Given the description of an element on the screen output the (x, y) to click on. 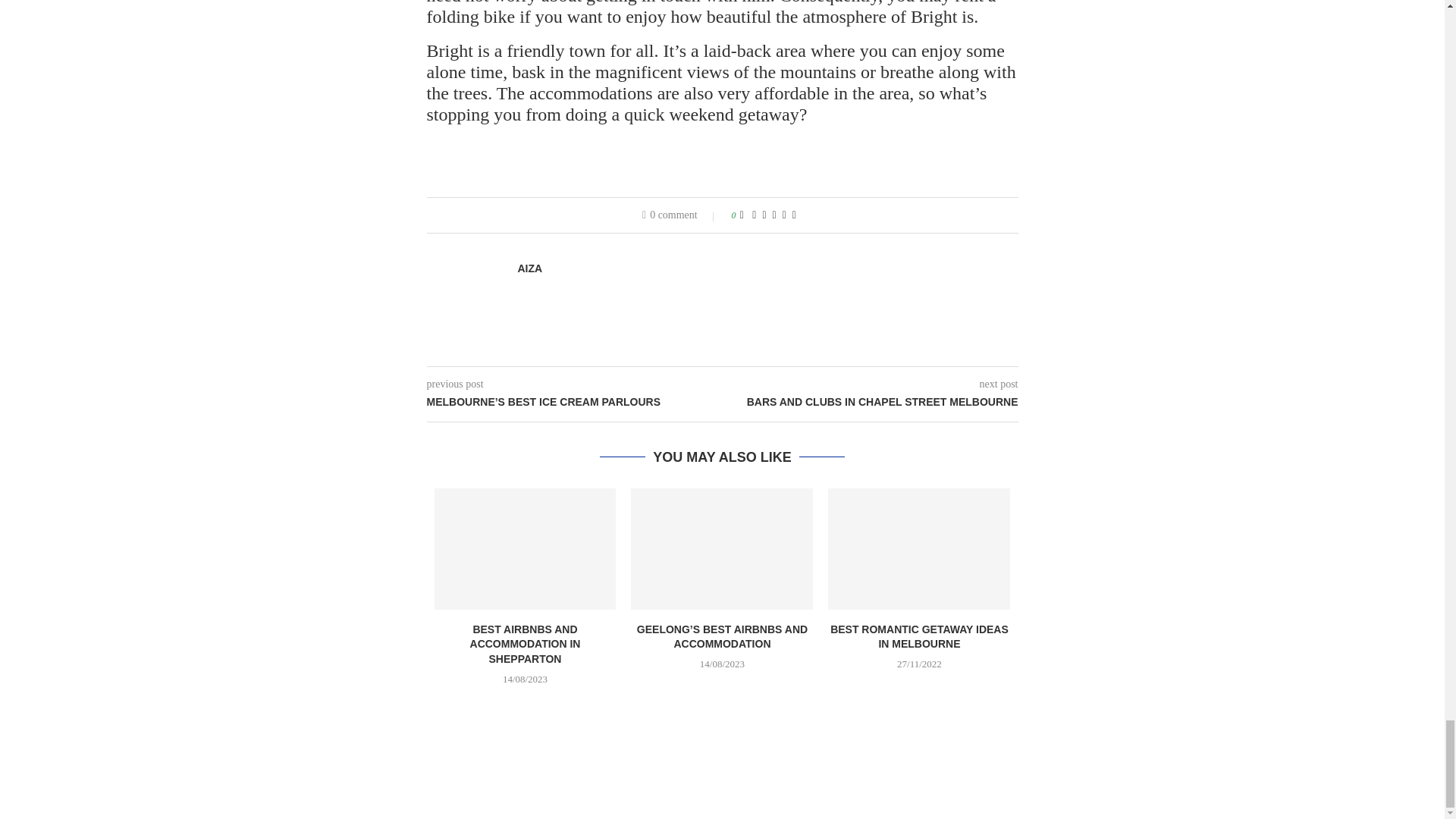
Author Aiza (528, 268)
Best Romantic Getaway ideas in Melbourne (919, 548)
Best Airbnbs and Accommodation in Shepparton (524, 548)
